Given the description of an element on the screen output the (x, y) to click on. 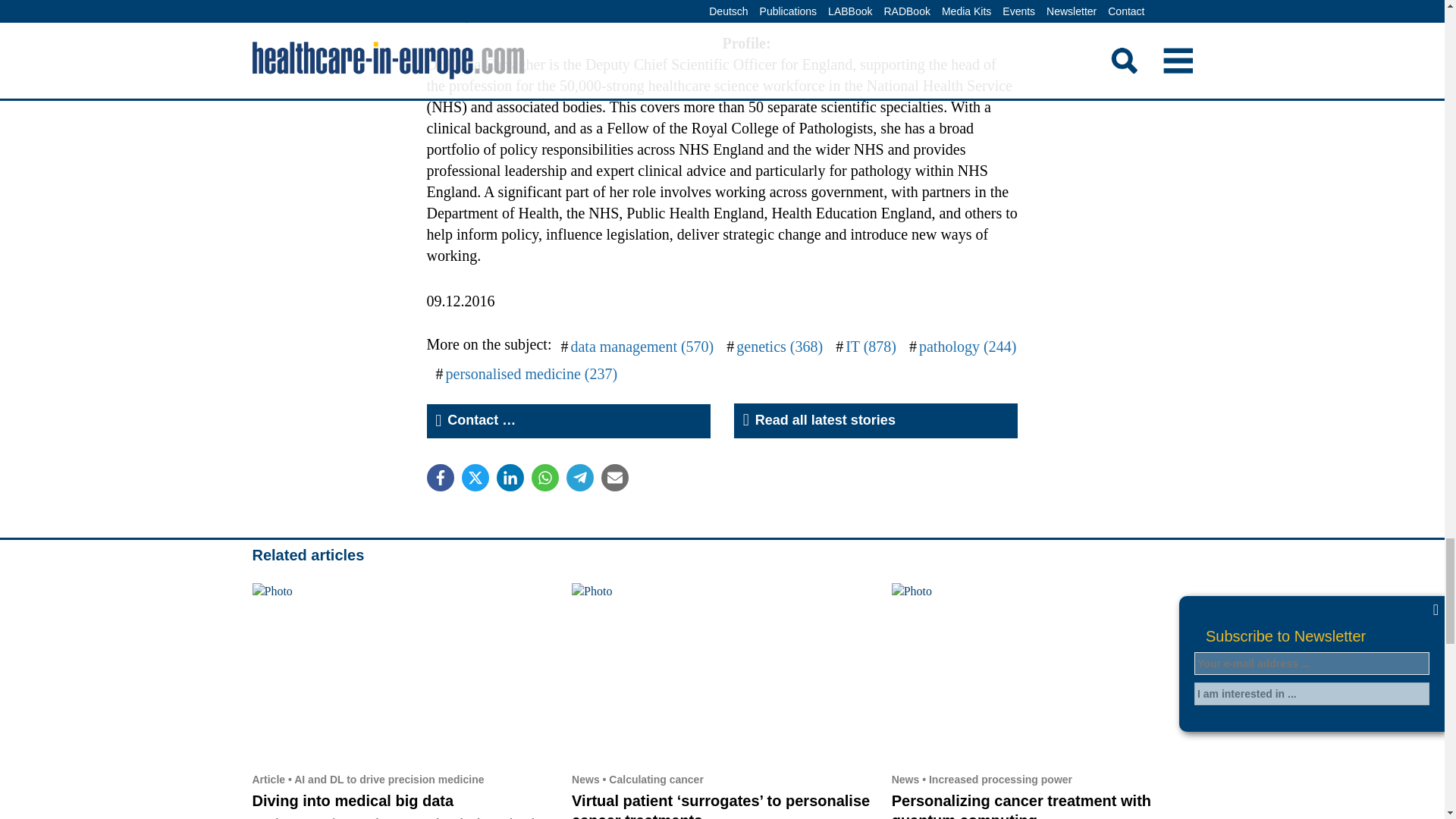
Personalizing cancer treatment with quantum computing (1041, 673)
Diving into medical big data (351, 800)
Share on twitter (474, 477)
Share via e-mail (613, 477)
Share on facebook (439, 477)
Diving into medical big data (402, 673)
Read all latest stories (875, 420)
Personalizing cancer treatment with quantum computing (1021, 805)
Share on Linked-in (509, 477)
Diving into medical big data (351, 800)
